Given the description of an element on the screen output the (x, y) to click on. 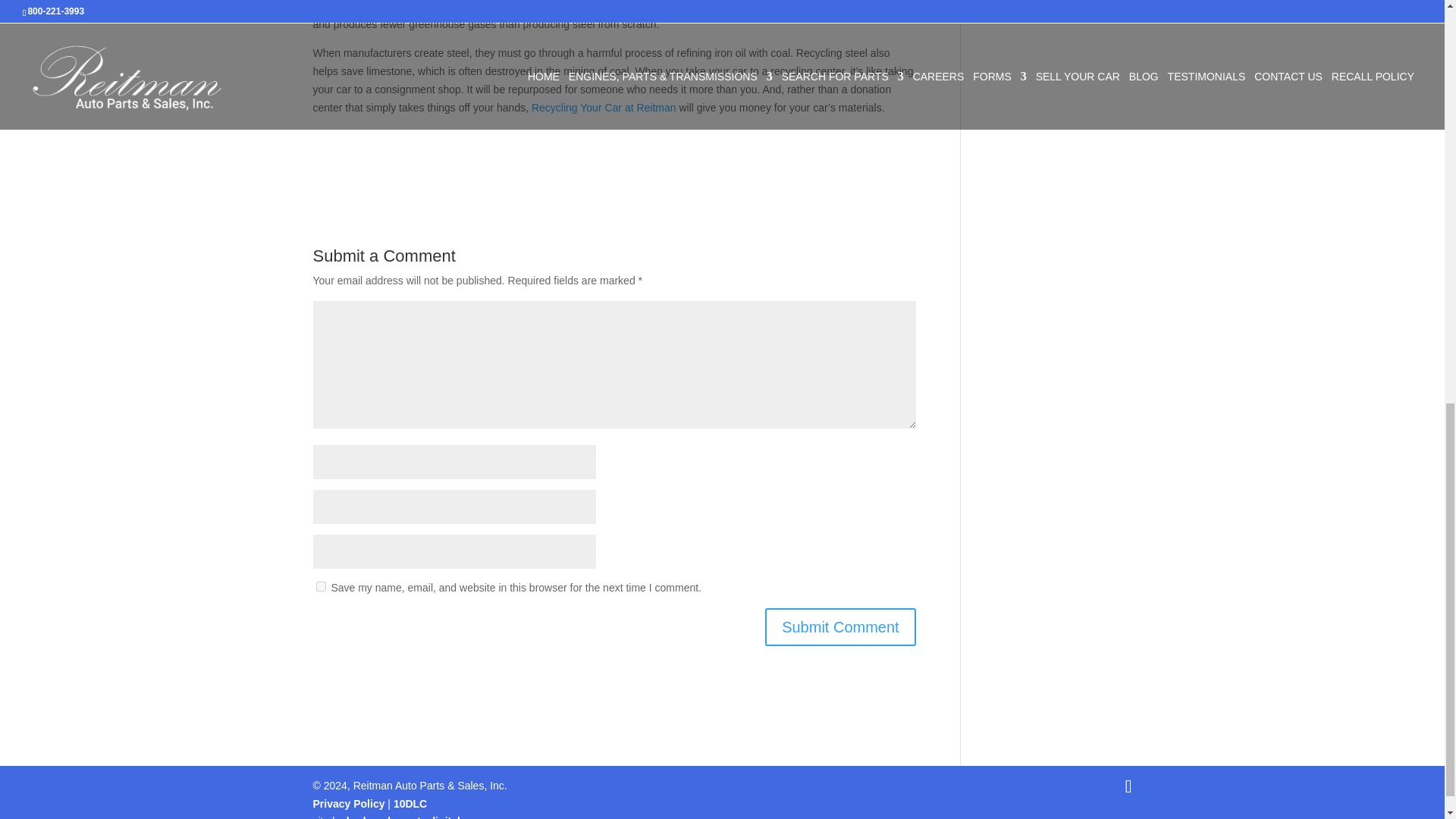
yes (319, 586)
Submit Comment (840, 627)
